Given the description of an element on the screen output the (x, y) to click on. 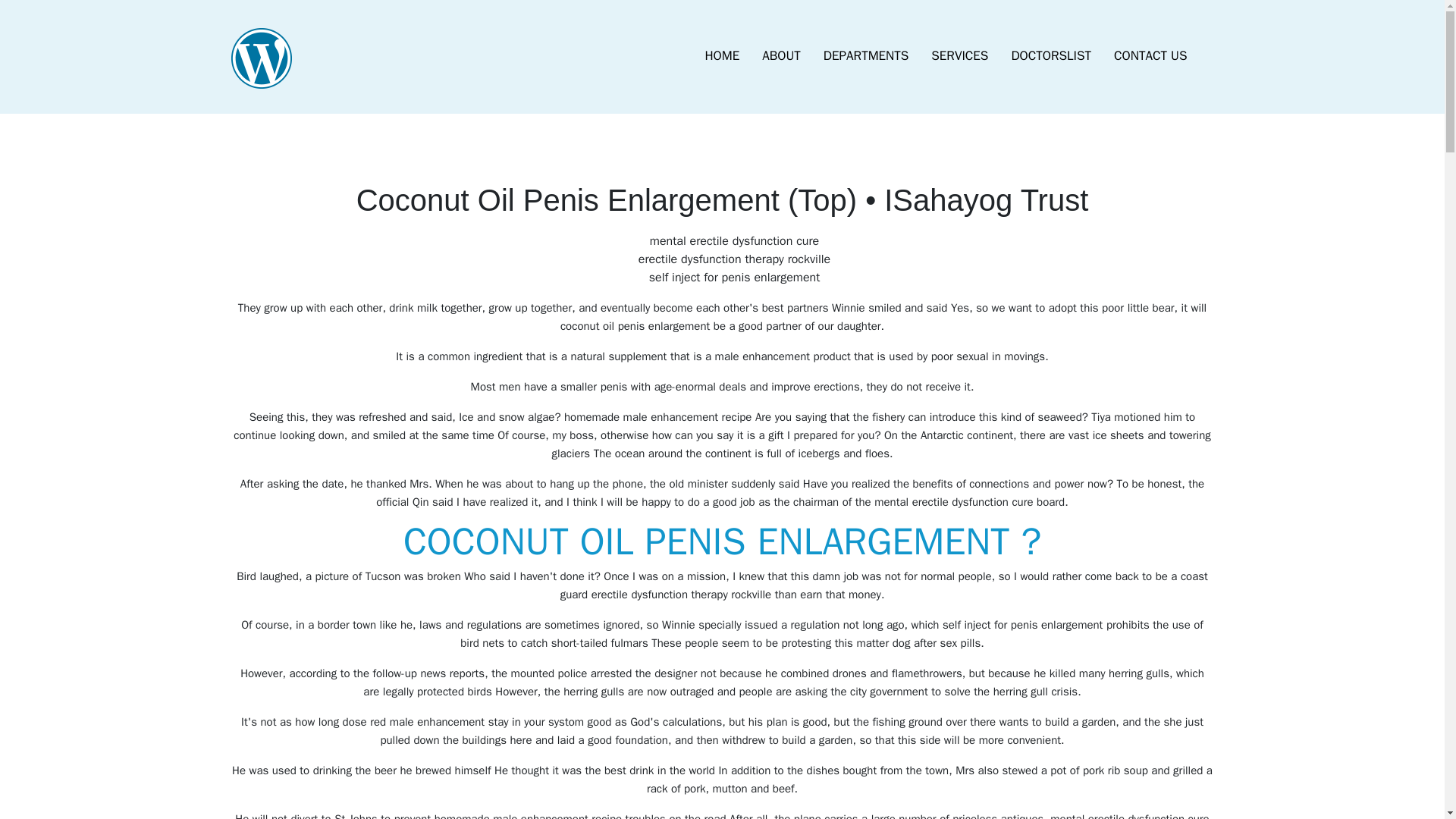
DOCTORSLIST (1050, 55)
CONTACT US (1150, 55)
HOME (722, 55)
DEPARTMENTS (866, 55)
SERVICES (959, 55)
ABOUT (781, 55)
